Given the description of an element on the screen output the (x, y) to click on. 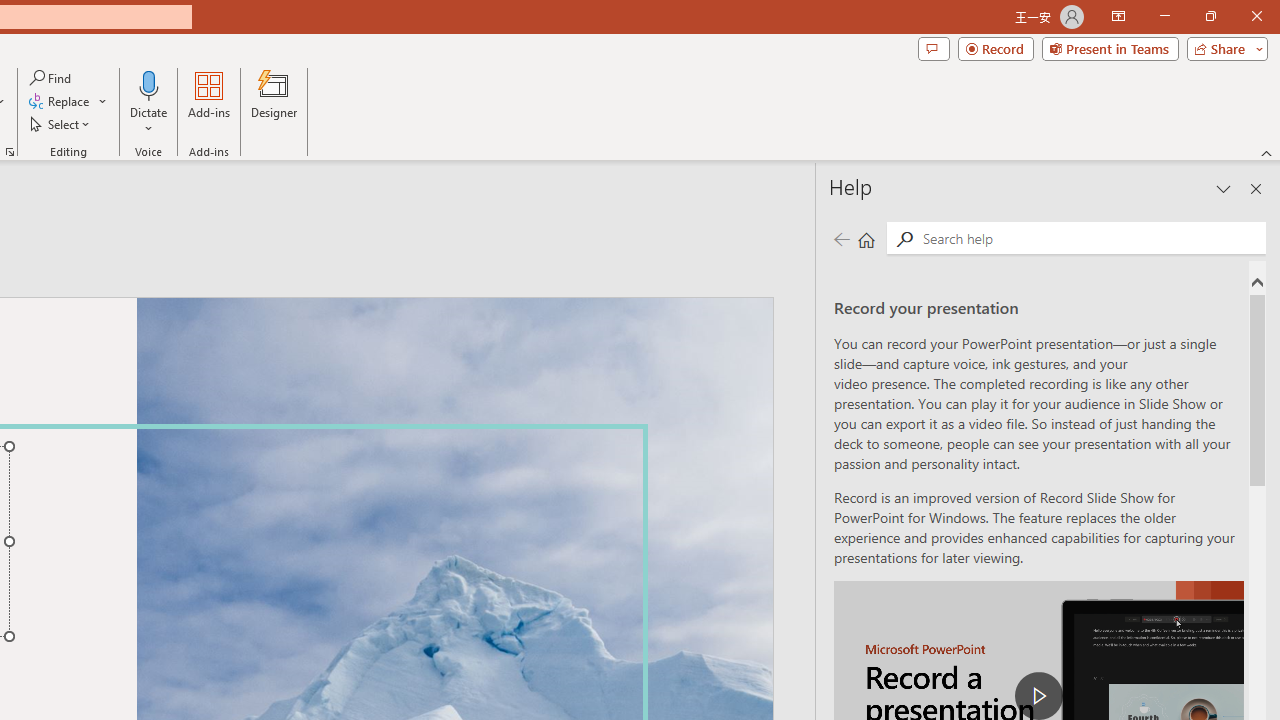
play Record a Presentation (1038, 695)
